Given the description of an element on the screen output the (x, y) to click on. 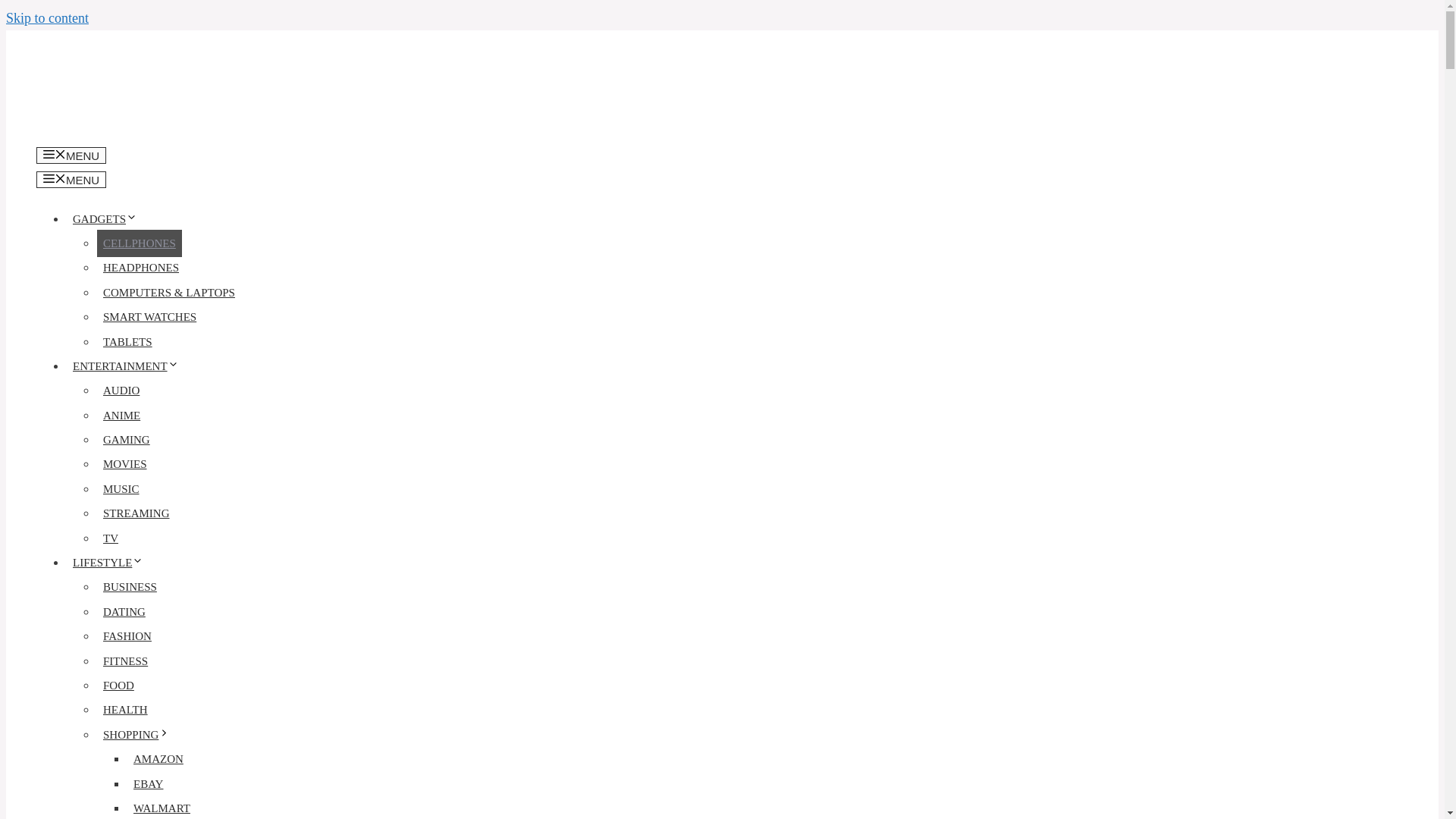
TV (110, 538)
ANIME (122, 415)
HEALTH (125, 709)
GAMING (126, 439)
SMART WATCHES (149, 316)
MOVIES (124, 463)
AUDIO (121, 390)
Skip to content (46, 17)
EBAY (148, 783)
MENU (71, 155)
